Given the description of an element on the screen output the (x, y) to click on. 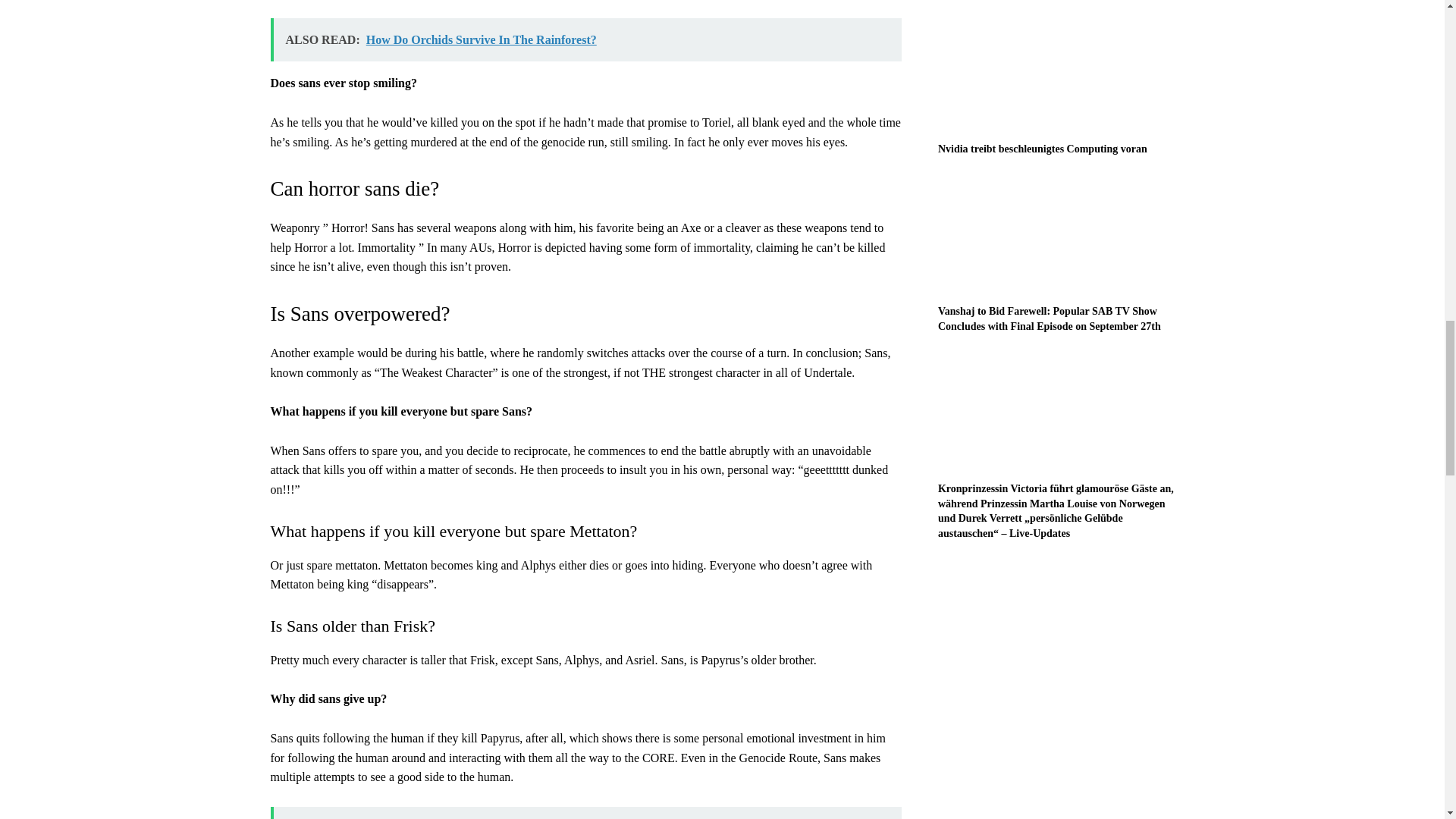
Nvidia treibt beschleunigtes Computing voran (1042, 148)
ALSO READ:  How Do Orchids Survive In The Rainforest? (585, 40)
Nvidia treibt beschleunigtes Computing voran (1055, 72)
ALSO READ:  Where To Find Quarried Stone? (585, 812)
